Given the description of an element on the screen output the (x, y) to click on. 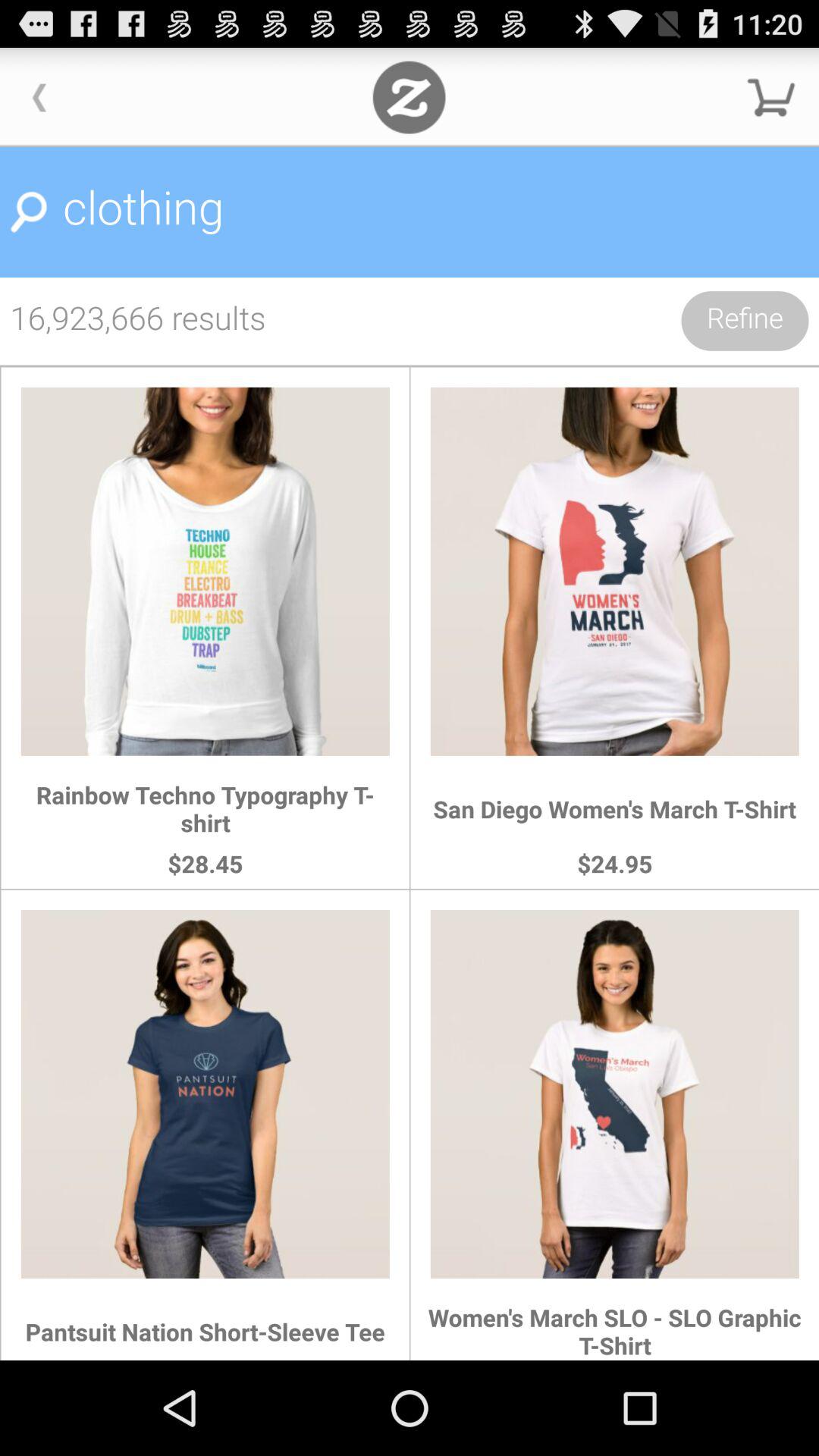
open cart (771, 97)
